Given the description of an element on the screen output the (x, y) to click on. 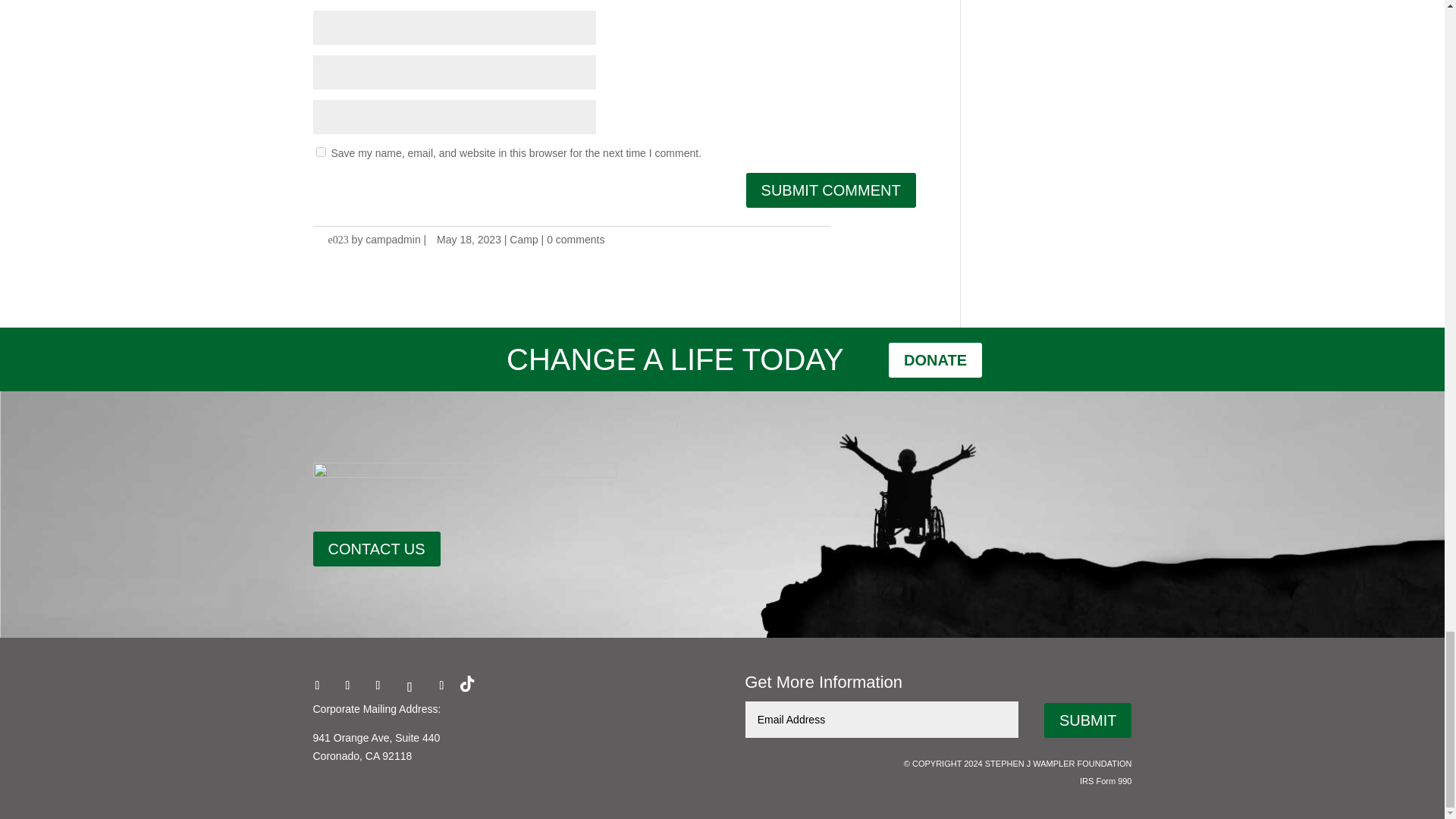
Submit Comment (830, 190)
Follow on Youtube (409, 687)
Follow on Instagram (377, 685)
Follow on X (346, 685)
Posts by campadmin (392, 239)
yes (319, 152)
Follow on LinkedIn (440, 685)
stephen-j-wampler-foundation-logo-white-larger (464, 485)
Follow on Facebook (316, 685)
